Given the description of an element on the screen output the (x, y) to click on. 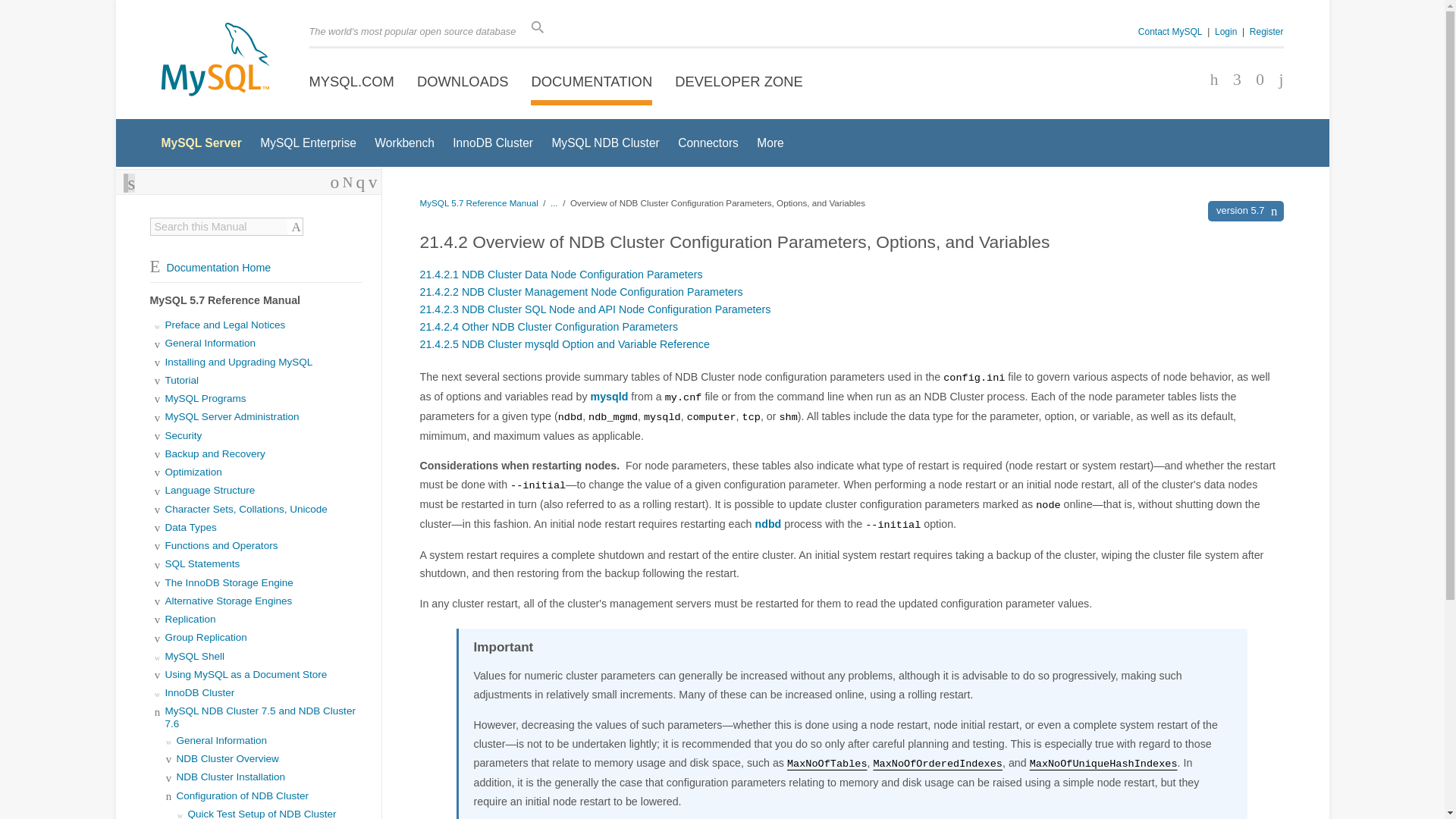
MYSQL.COM (351, 81)
DOCUMENTATION (591, 81)
Register (1266, 31)
MySQL (214, 60)
MySQL Enterprise (308, 142)
General Information (210, 342)
InnoDB Cluster (492, 142)
MySQL NDB Cluster (605, 142)
Workbench (403, 142)
Contact MySQL (1170, 31)
MySQL Server (200, 142)
Installing and Upgrading MySQL (239, 361)
DOWNLOADS (462, 81)
Search this Manual (217, 226)
Follow us on LinkedIn (1253, 80)
